Given the description of an element on the screen output the (x, y) to click on. 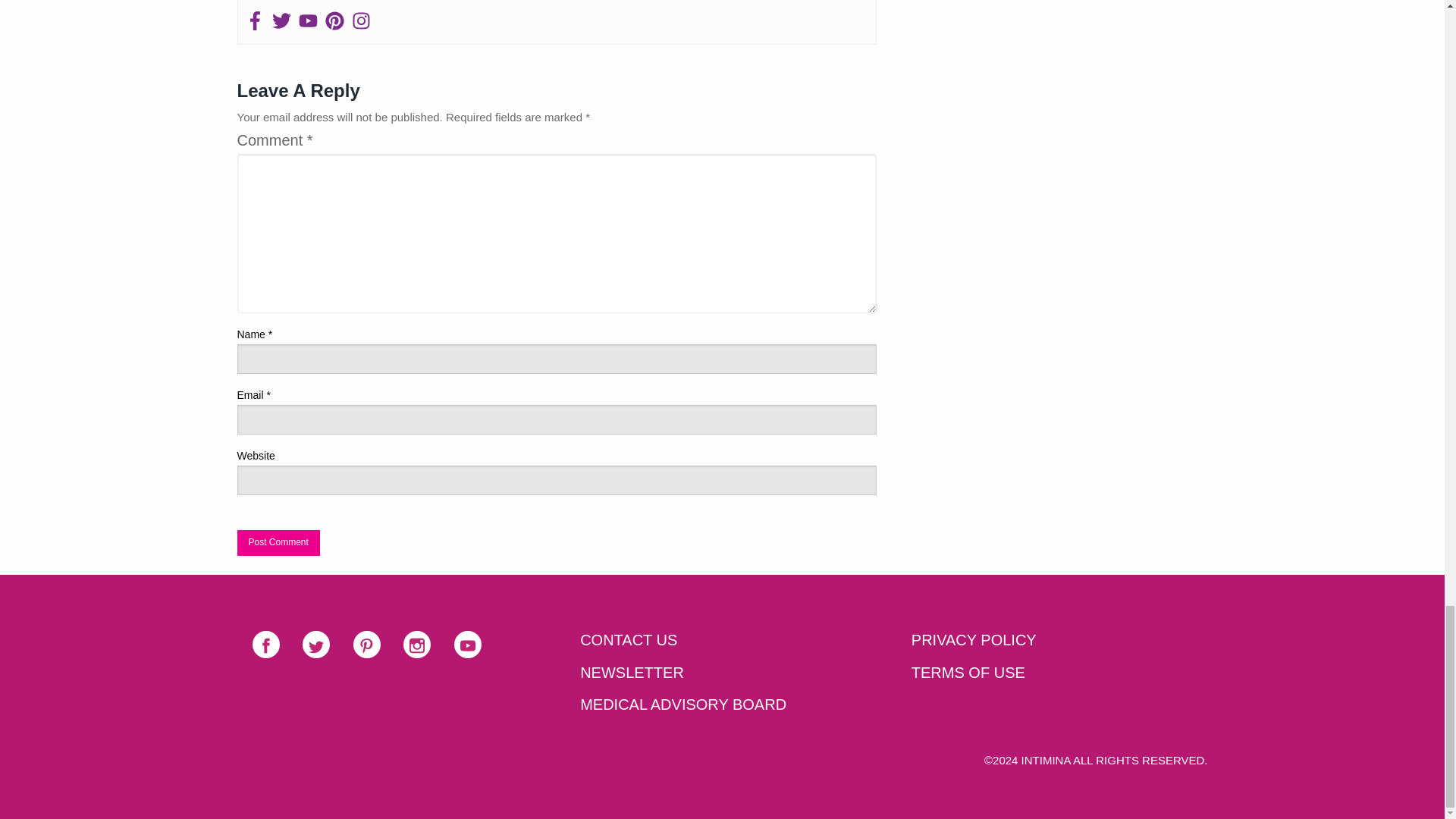
CONTACT US (721, 640)
Post Comment (276, 542)
Instagram (361, 21)
Pinterest (366, 644)
NEWSLETTER (721, 672)
Pinterest (333, 21)
Instagram (416, 644)
Twitter (279, 21)
Post Comment (276, 542)
Twitter (316, 644)
